Given the description of an element on the screen output the (x, y) to click on. 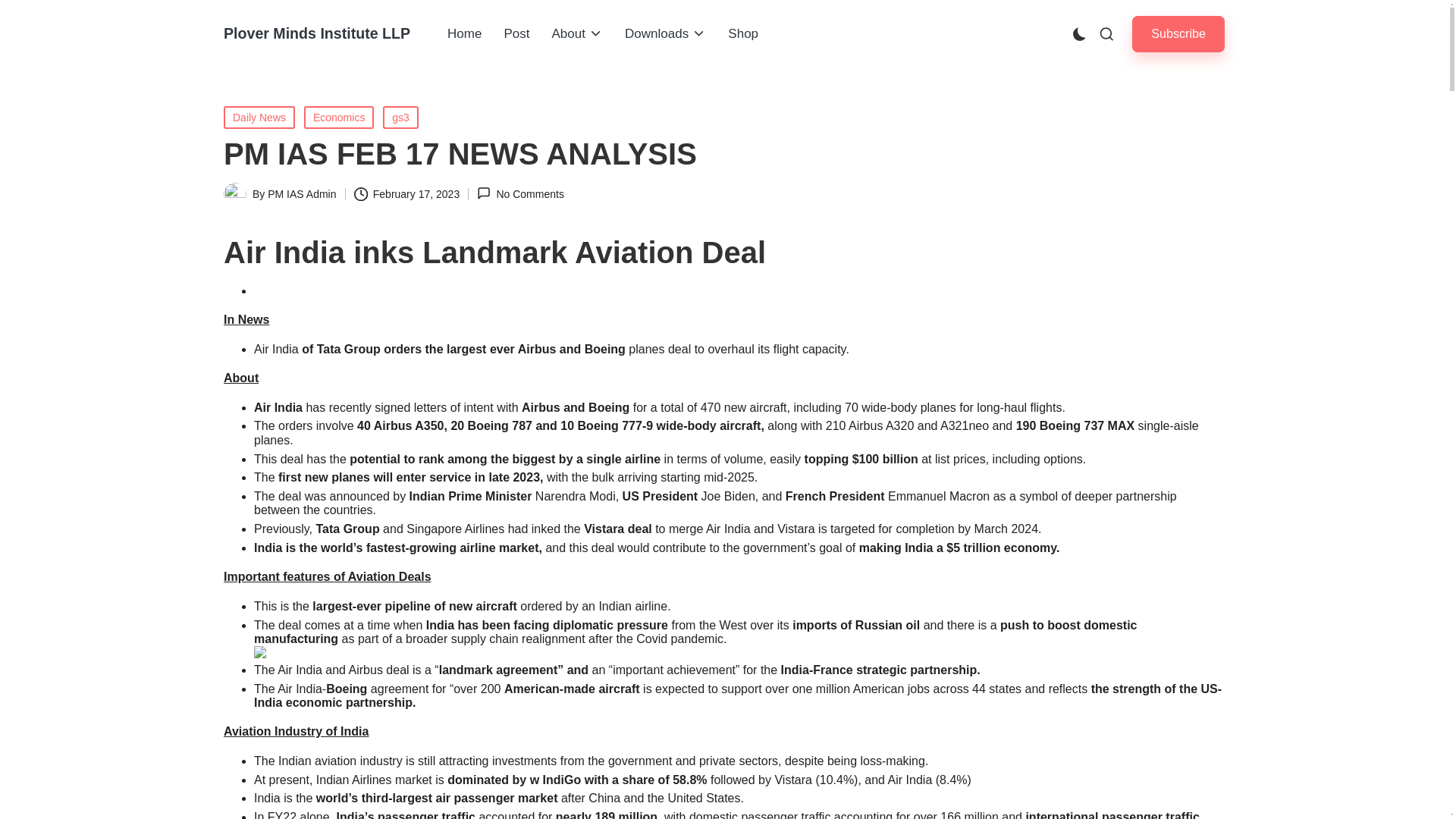
gs3 (400, 117)
PM IAS Admin (301, 193)
Home (464, 34)
No Comments (520, 193)
Daily News (259, 117)
Plover Minds Institute LLP (317, 33)
Subscribe (1178, 33)
About (576, 34)
Downloads (665, 34)
View all posts by PM IAS Admin (301, 193)
